Given the description of an element on the screen output the (x, y) to click on. 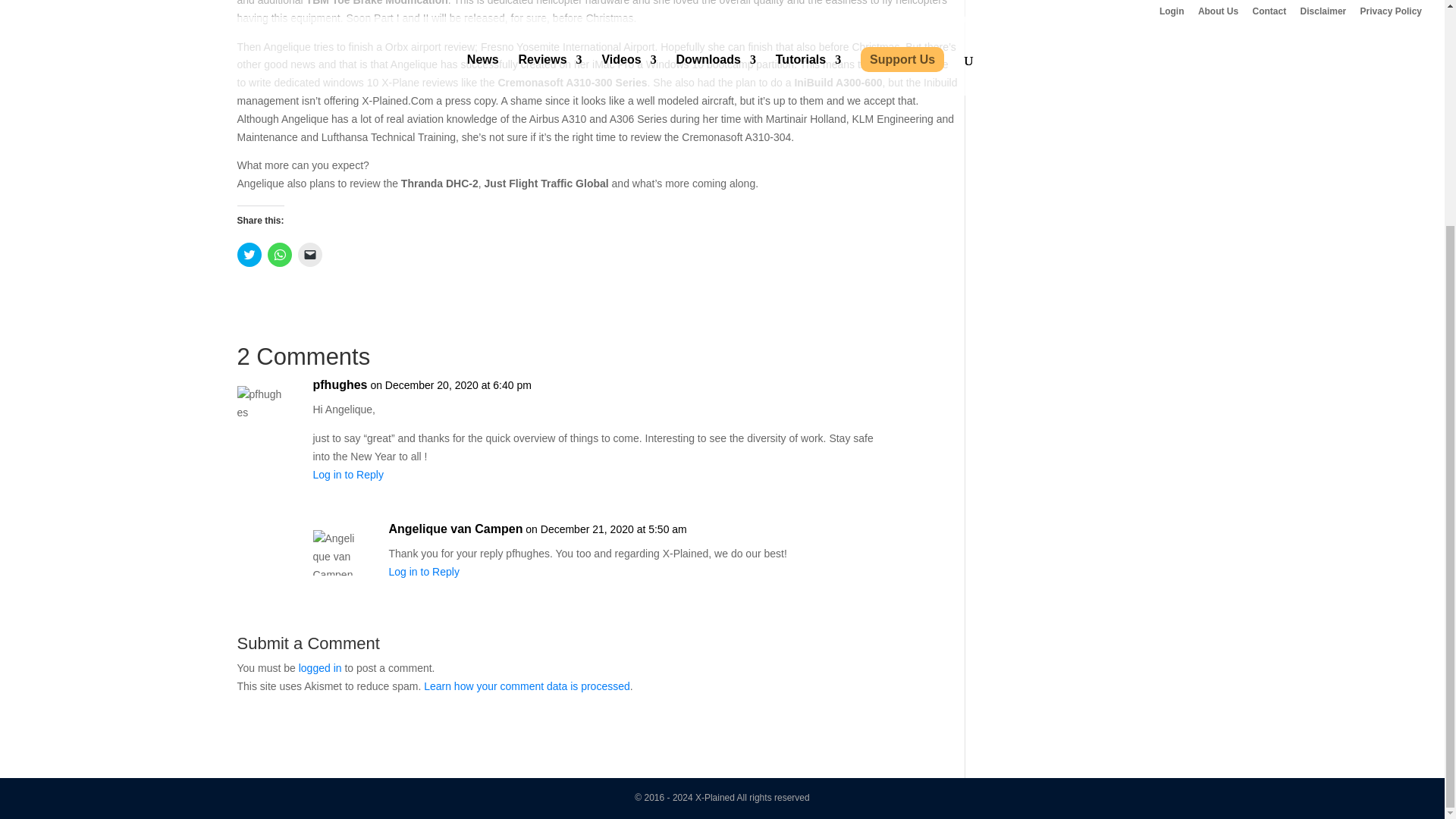
Click to share on WhatsApp (278, 254)
Click to email a link to a friend (309, 254)
Click to share on Twitter (247, 254)
